Given the description of an element on the screen output the (x, y) to click on. 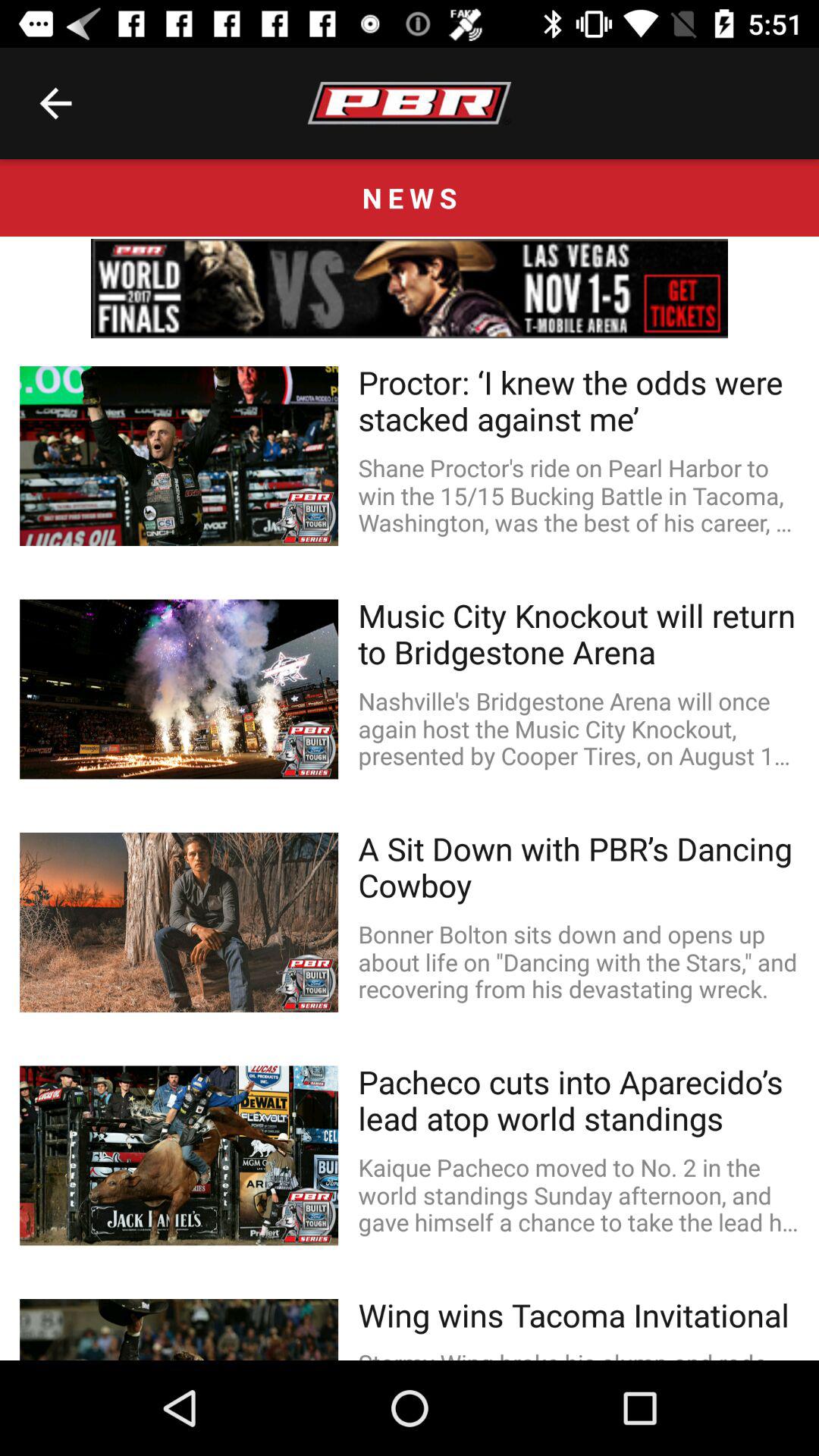
advertisement link (409, 288)
